Given the description of an element on the screen output the (x, y) to click on. 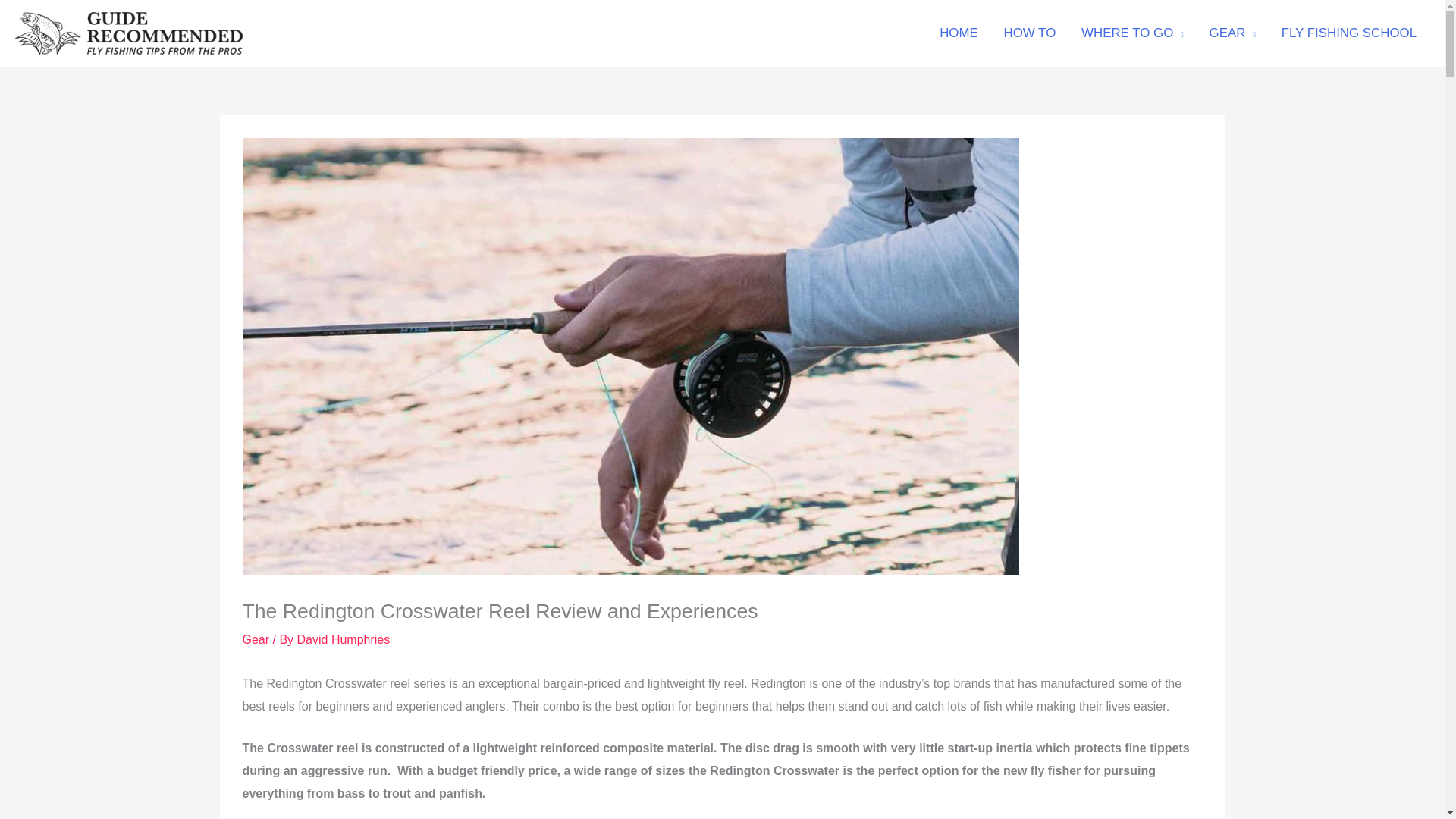
Gear (256, 639)
WHERE TO GO (1132, 32)
View all posts by David Humphries (343, 639)
FLY FISHING SCHOOL (1348, 32)
David Humphries (343, 639)
GEAR (1232, 32)
HOME (958, 32)
HOW TO (1029, 32)
